Given the description of an element on the screen output the (x, y) to click on. 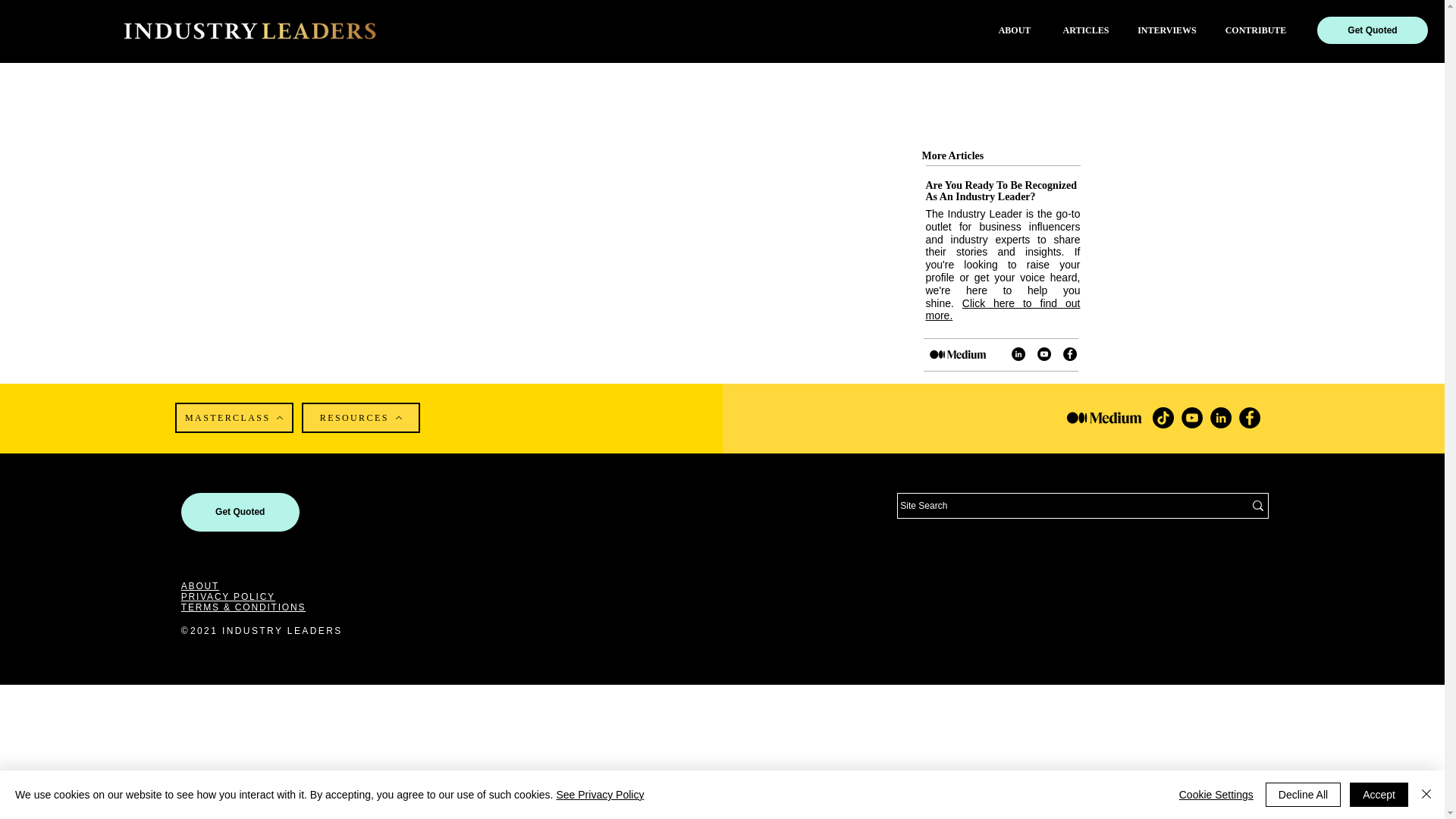
PRIVACY POLICY (227, 596)
Get Quoted (1372, 30)
ABOUT (199, 585)
INTERVIEWS (1166, 30)
MASTERCLASS (234, 417)
Decline All (1302, 794)
Get Quoted (239, 512)
Are You Ready To Be Recognized As An Industry Leader? (1000, 190)
More Articles (952, 155)
